Given the description of an element on the screen output the (x, y) to click on. 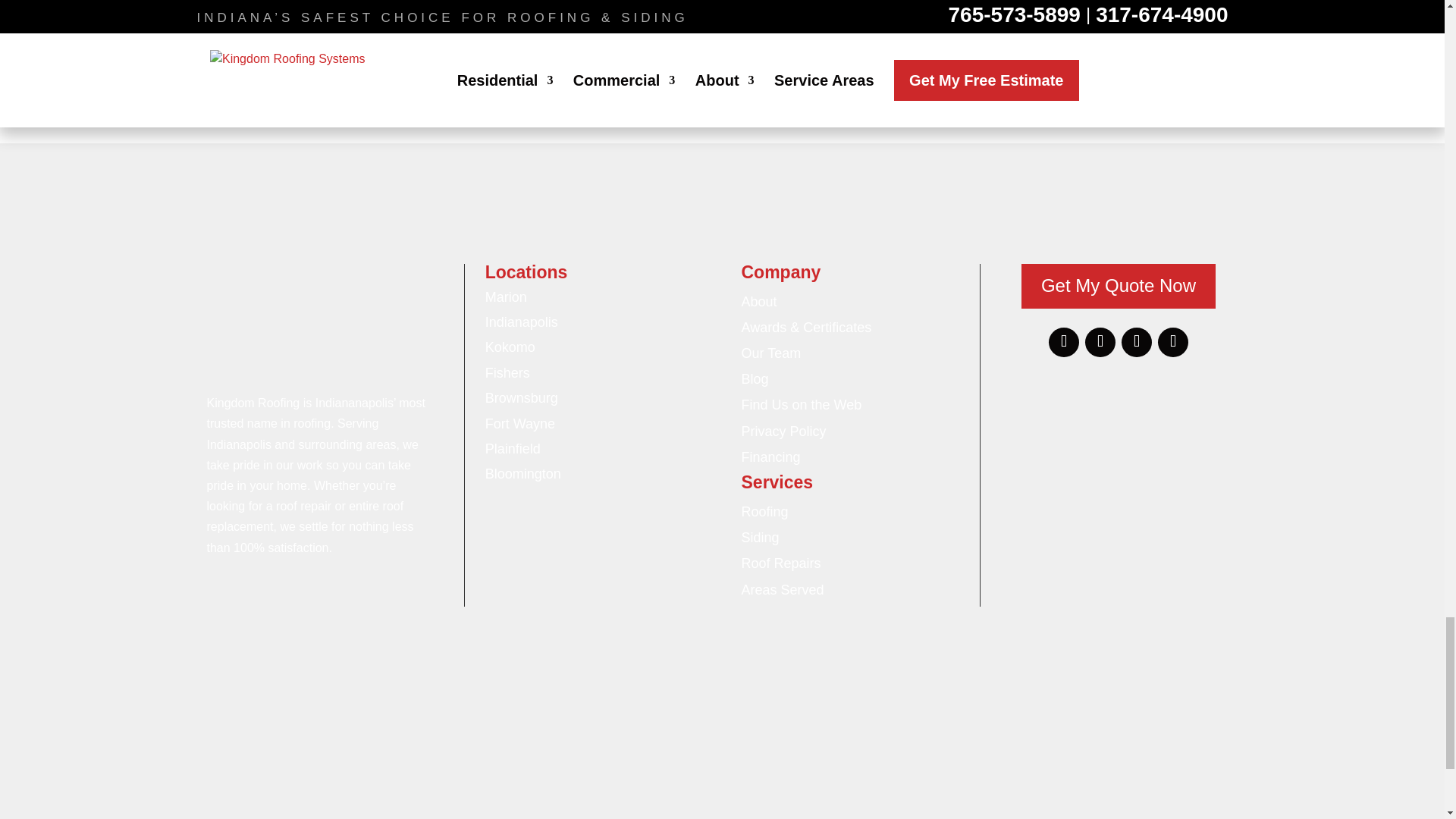
Follow on Facebook (1063, 342)
Follow on Youtube (1172, 342)
Follow on Instagram (1099, 342)
Follow on LinkedIn (1136, 342)
blue-seal-293-61-whitetxt-bbb-90082463 (1109, 386)
